Given the description of an element on the screen output the (x, y) to click on. 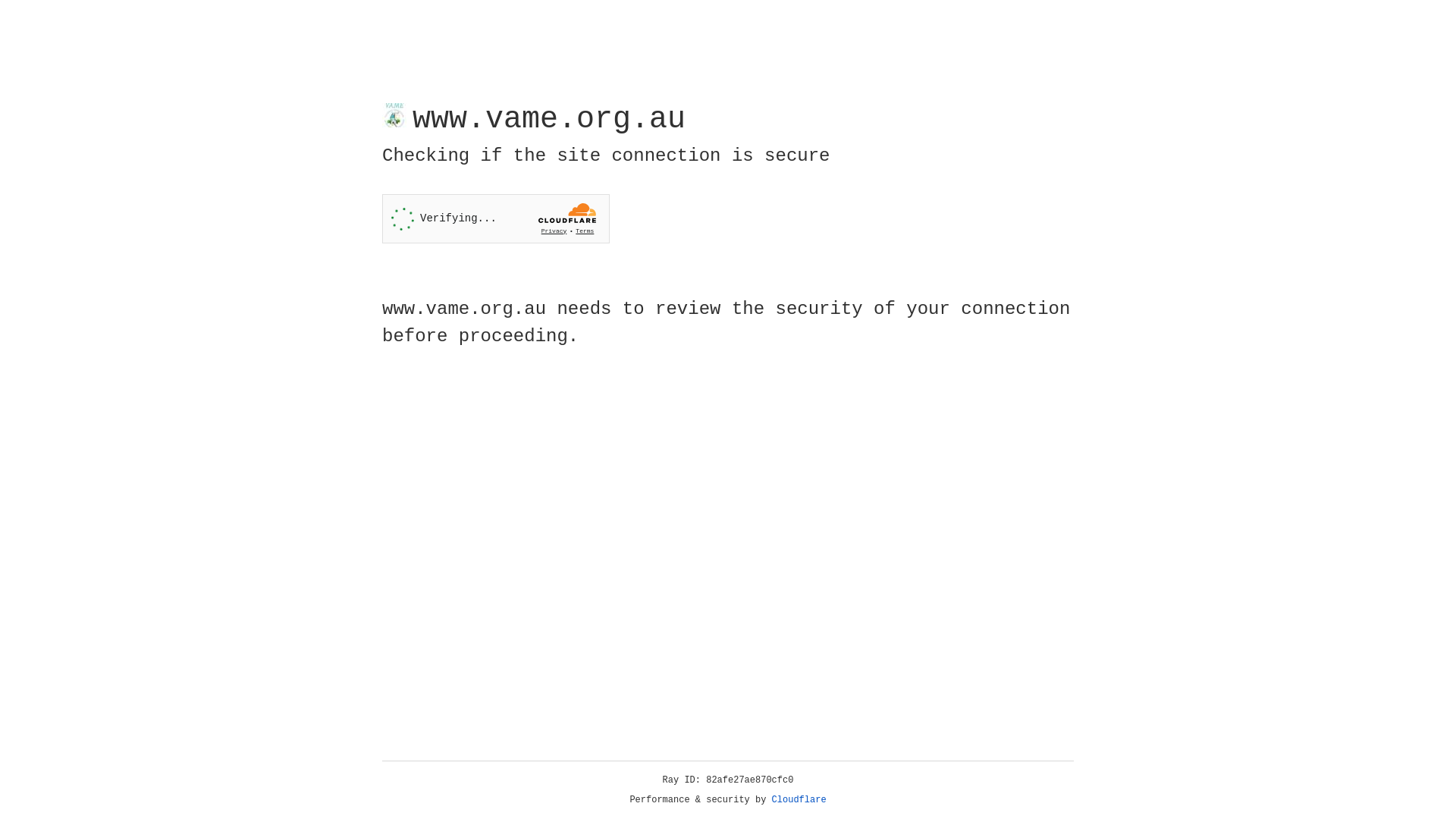
Cloudflare Element type: text (798, 799)
Widget containing a Cloudflare security challenge Element type: hover (495, 218)
